Given the description of an element on the screen output the (x, y) to click on. 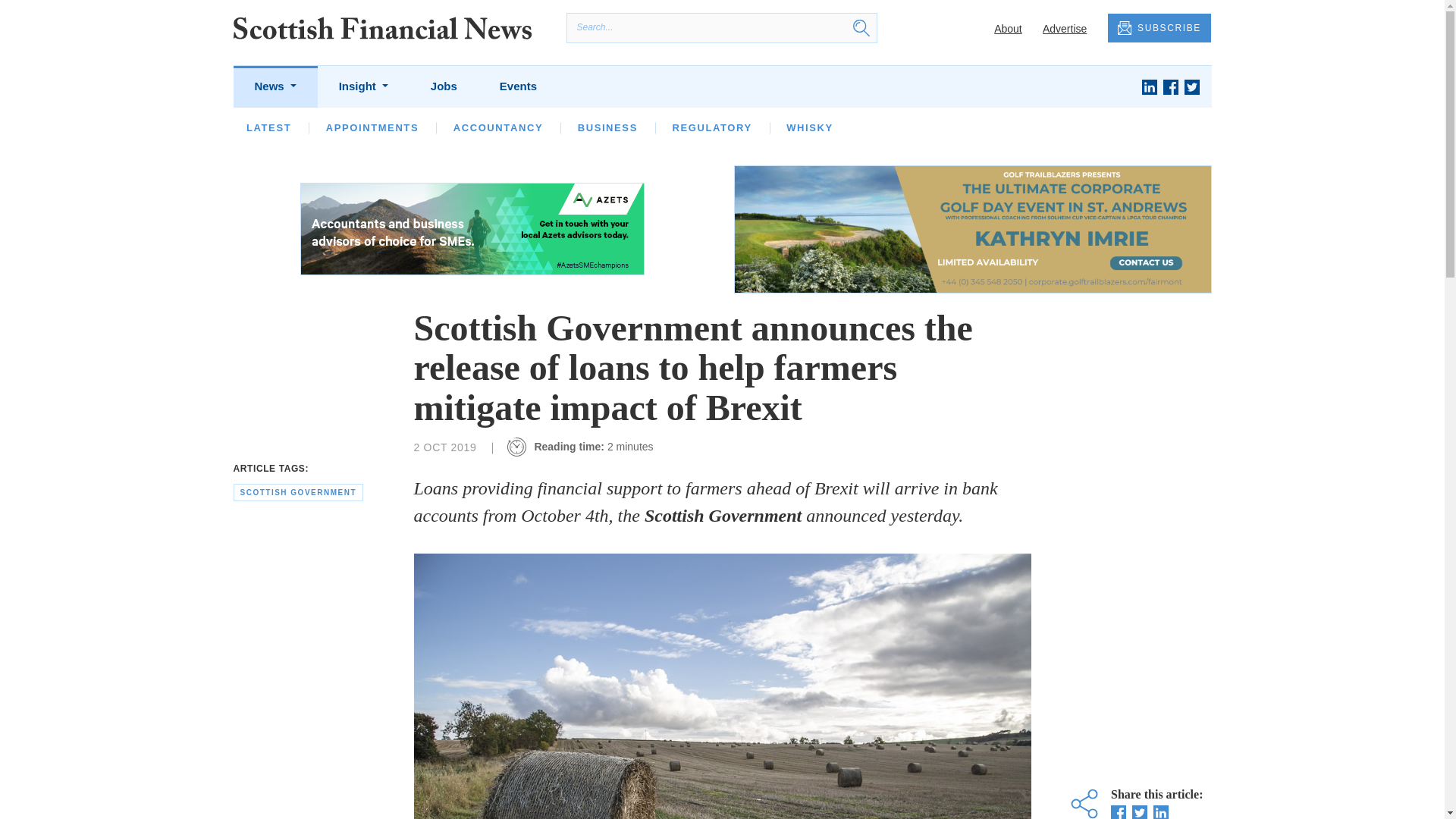
ACCOUNTANCY (497, 127)
SUBSCRIBE (1158, 28)
News (274, 86)
About (1008, 28)
WHISKY (809, 127)
LATEST (268, 127)
Jobs (444, 86)
REGULATORY (711, 127)
OPINION (350, 127)
INTERVIEWS (446, 127)
